Given the description of an element on the screen output the (x, y) to click on. 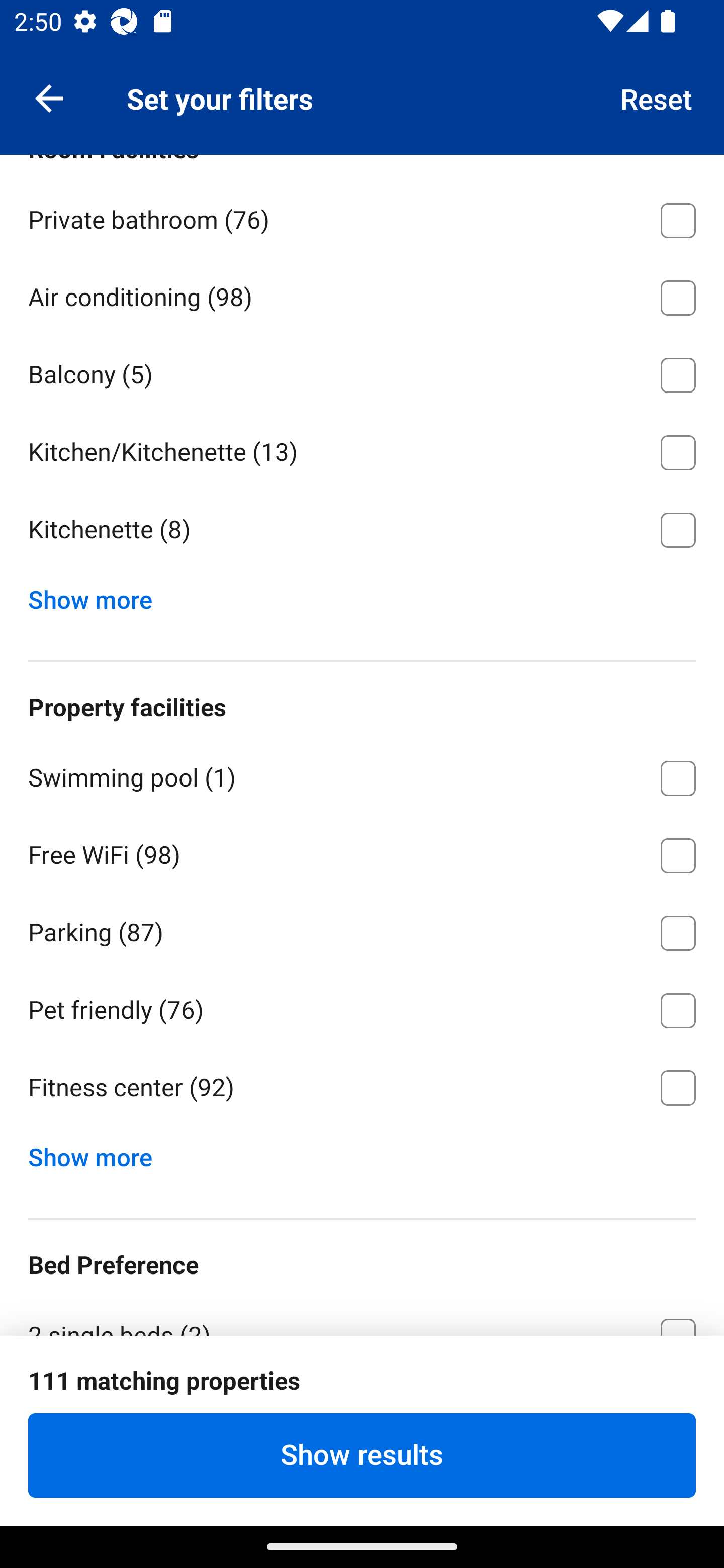
Navigate up (49, 97)
Reset (656, 97)
Private bathroom ⁦(76) (361, 216)
Air conditioning ⁦(98) (361, 293)
Balcony ⁦(5) (361, 371)
Kitchen/Kitchenette ⁦(13) (361, 448)
Kitchenette ⁦(8) (361, 529)
Show more (97, 594)
Swimming pool ⁦(1) (361, 774)
Free WiFi ⁦(98) (361, 851)
Parking ⁦(87) (361, 929)
Pet friendly ⁦(76) (361, 1007)
Fitness center ⁦(92) (361, 1087)
Show more (97, 1153)
Show results (361, 1454)
